Given the description of an element on the screen output the (x, y) to click on. 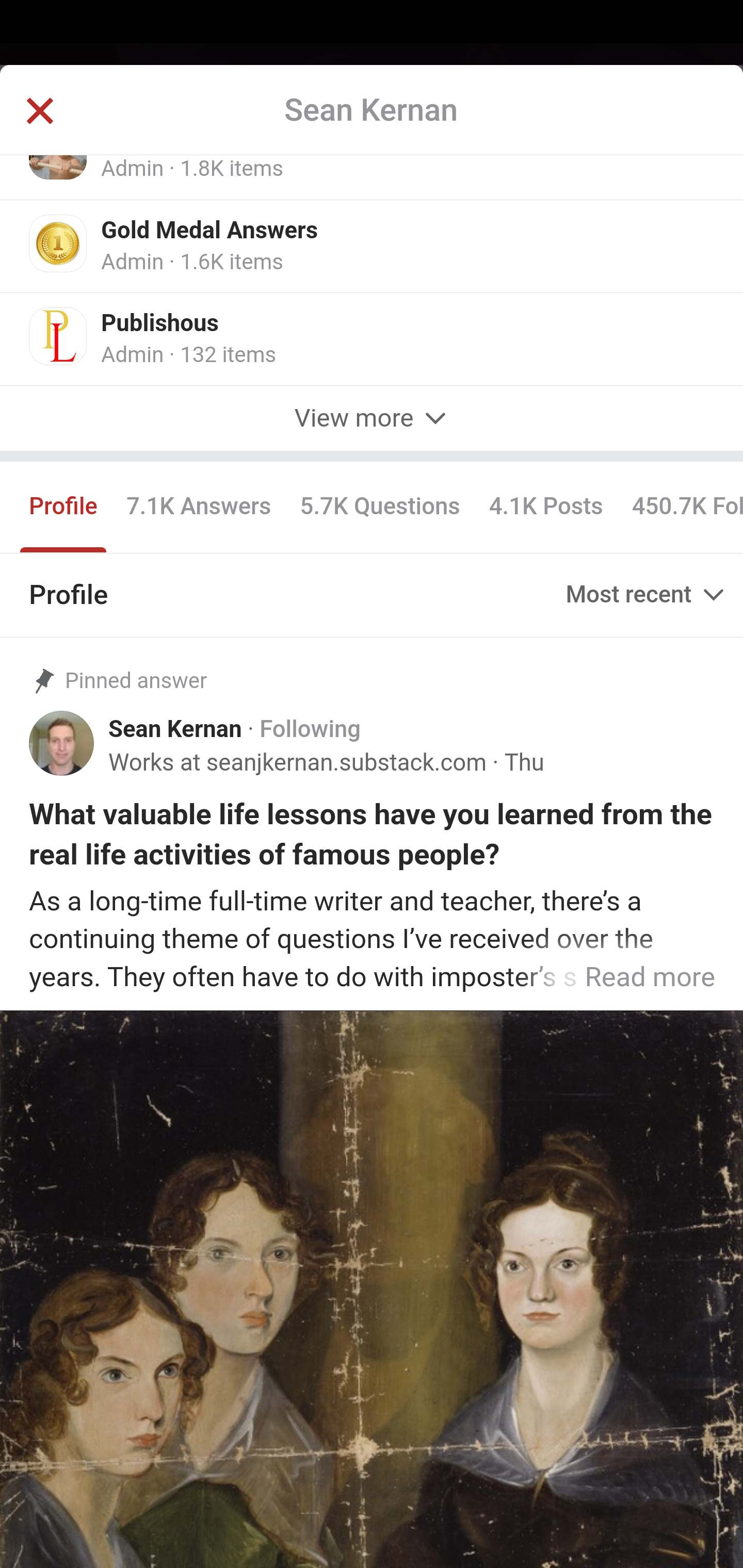
 (39, 112)
Icon for Gold Medal Answers (58, 244)
Gold Medal Answers (210, 232)
Icon for Publishous (58, 338)
Publishous (160, 325)
View more (371, 419)
Profile (63, 509)
7.1K Answers (197, 509)
5.7K Questions (379, 509)
4.1K Posts (545, 509)
450.7K Followers (679, 509)
Most recent (647, 595)
Profile photo for Sean Kernan (61, 744)
Sean Kernan (175, 731)
Following (309, 731)
